Given the description of an element on the screen output the (x, y) to click on. 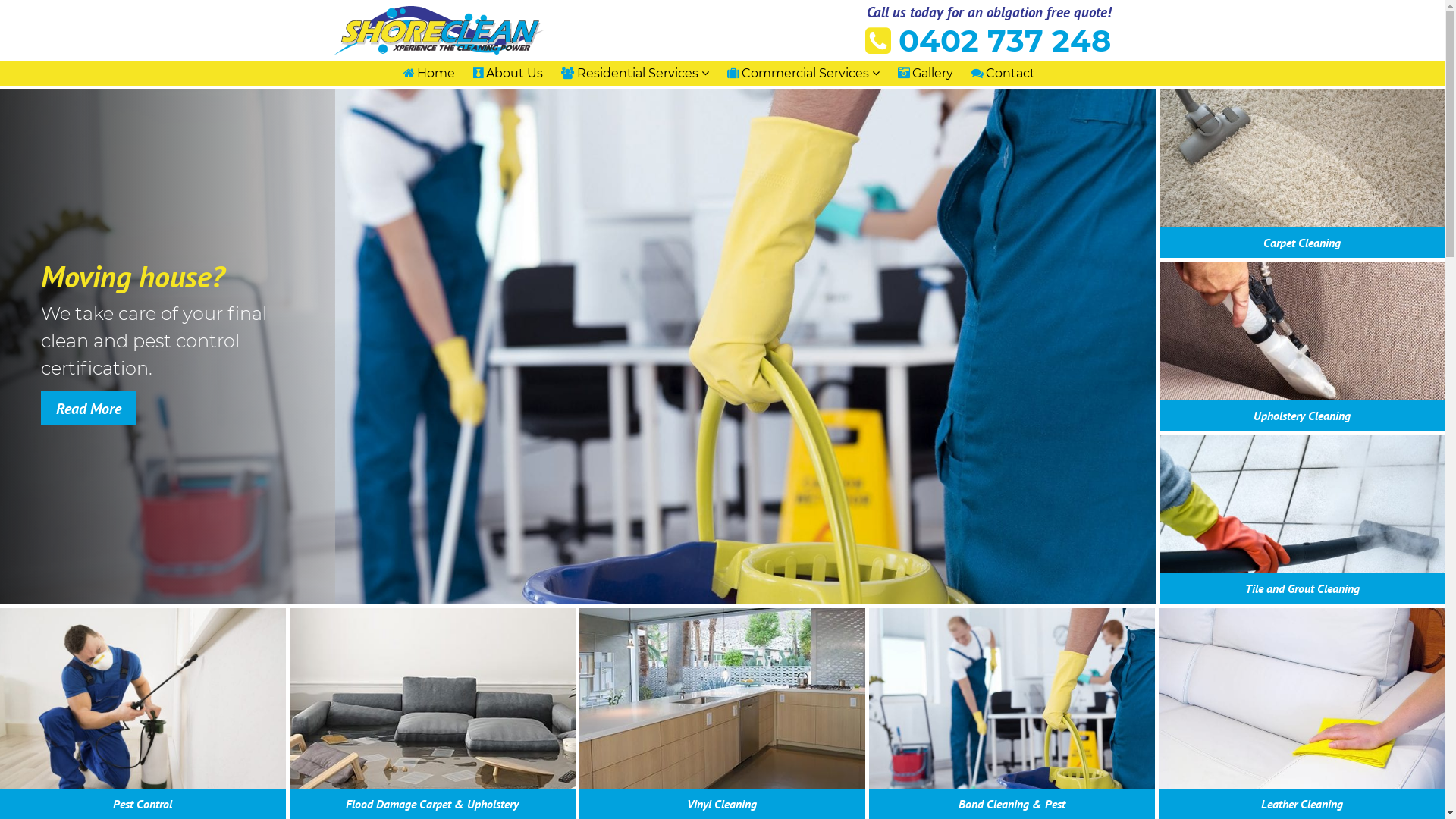
Commercial Services Element type: text (802, 72)
Pest Control Element type: text (142, 803)
Read More Element type: text (88, 408)
Upholstery Cleaning Element type: text (1301, 415)
Tile and Grout Cleaning Element type: text (1302, 588)
Residential Services Element type: text (634, 72)
0402 737 248 Element type: text (987, 40)
Gallery Element type: text (925, 72)
Shoreclean Cleaning Services Gympie Element type: text (388, 77)
Carpet Cleaning Element type: text (1301, 242)
Bond Cleaning & Pest Element type: text (1011, 803)
About Us Element type: text (507, 72)
Vinyl Cleaning Element type: text (721, 803)
Leather Cleaning Element type: text (1302, 803)
Home Element type: text (429, 72)
Flood Damage Carpet & Upholstery Element type: text (431, 803)
Contact Element type: text (1003, 72)
